Given the description of an element on the screen output the (x, y) to click on. 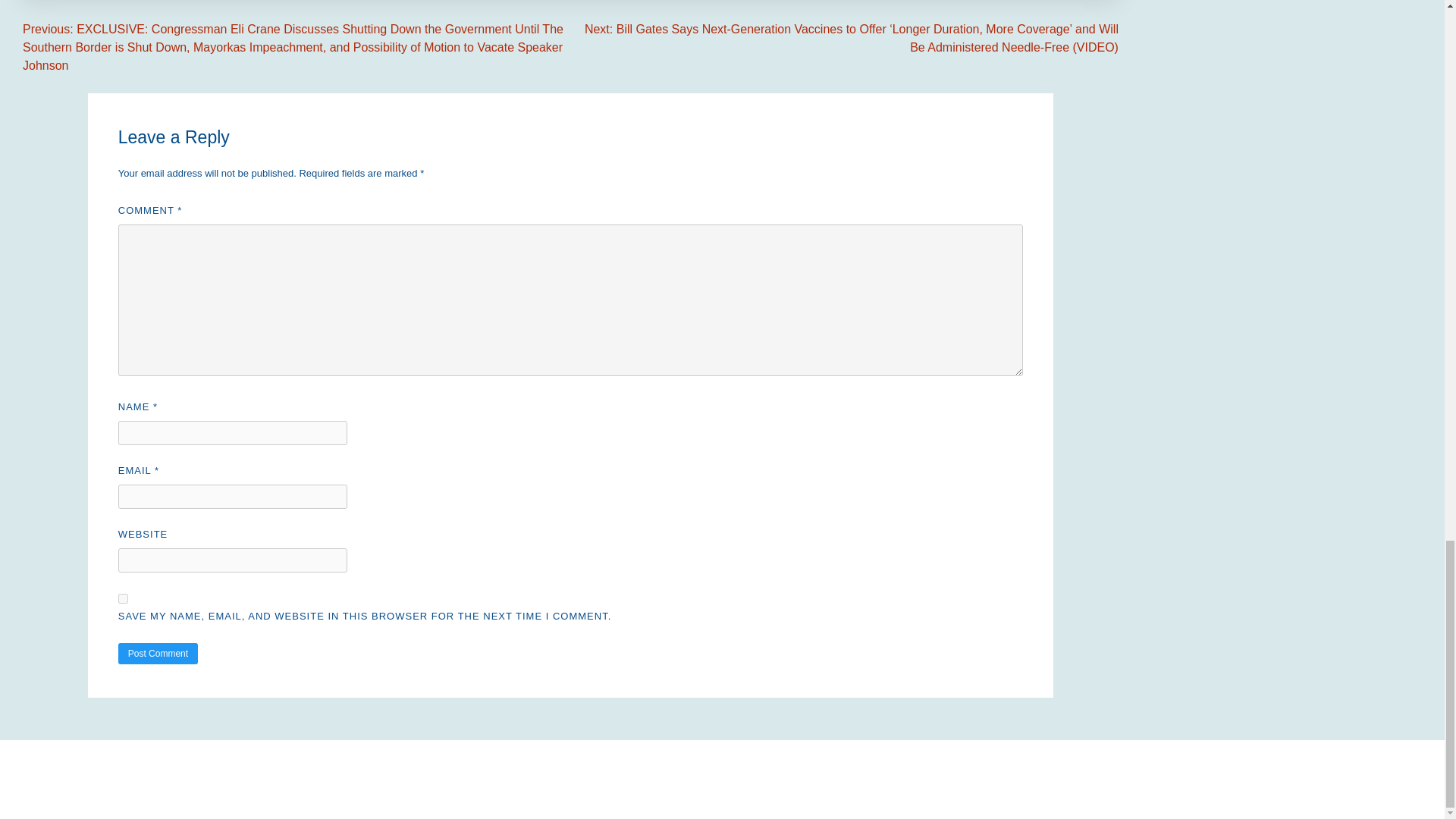
Post Comment (157, 653)
Post Comment (157, 653)
yes (122, 598)
